Given the description of an element on the screen output the (x, y) to click on. 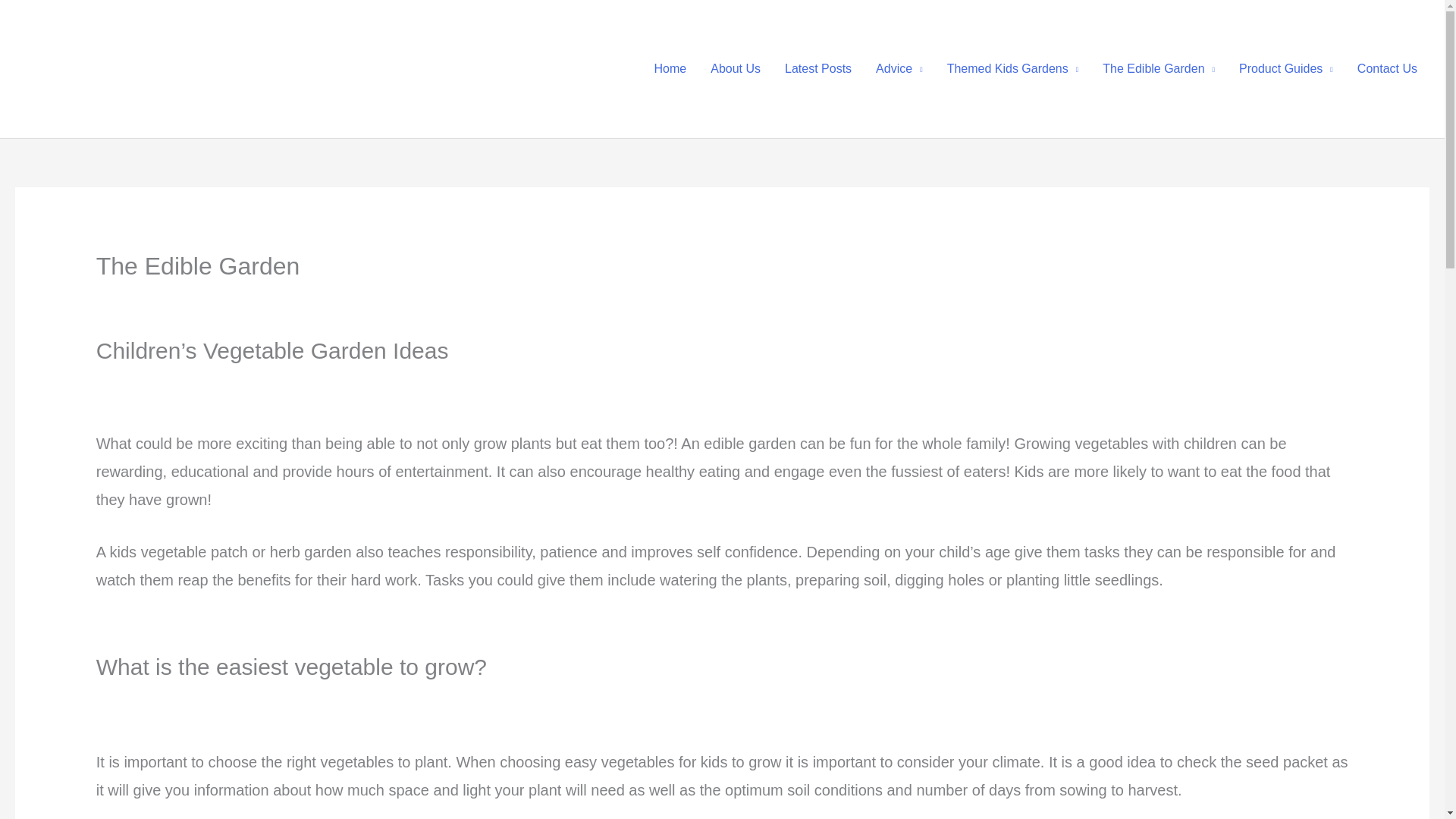
About Us (735, 68)
Latest Posts (818, 68)
Themed Kids Gardens (1012, 68)
Advice (898, 68)
The Edible Garden (1158, 68)
Home (670, 68)
Product Guides (1286, 68)
